Given the description of an element on the screen output the (x, y) to click on. 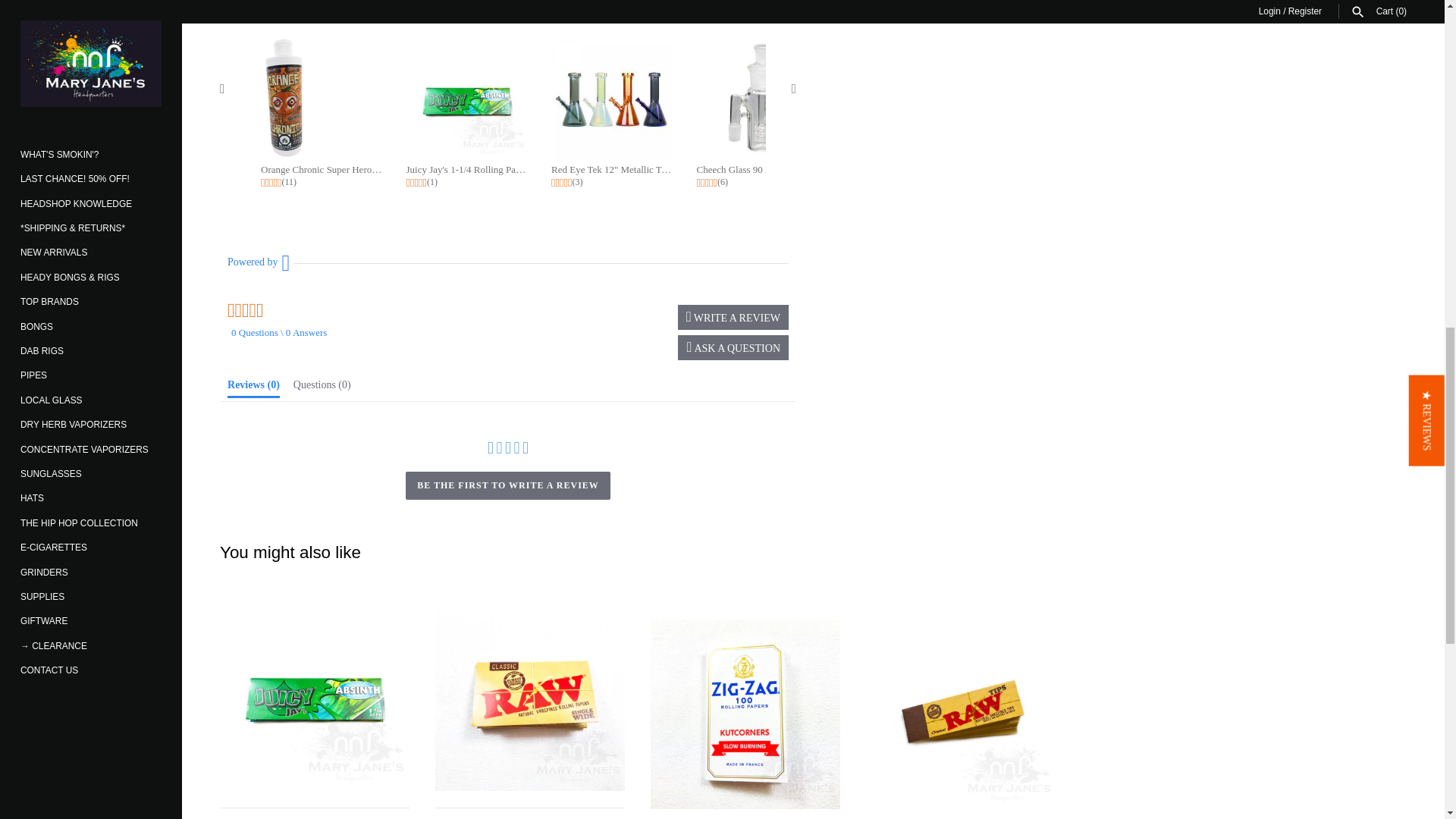
Raw Rolling Tips (960, 714)
Raw Classic Rolling Papers (529, 696)
Zig Zag Rolling Papers (745, 714)
